Given the description of an element on the screen output the (x, y) to click on. 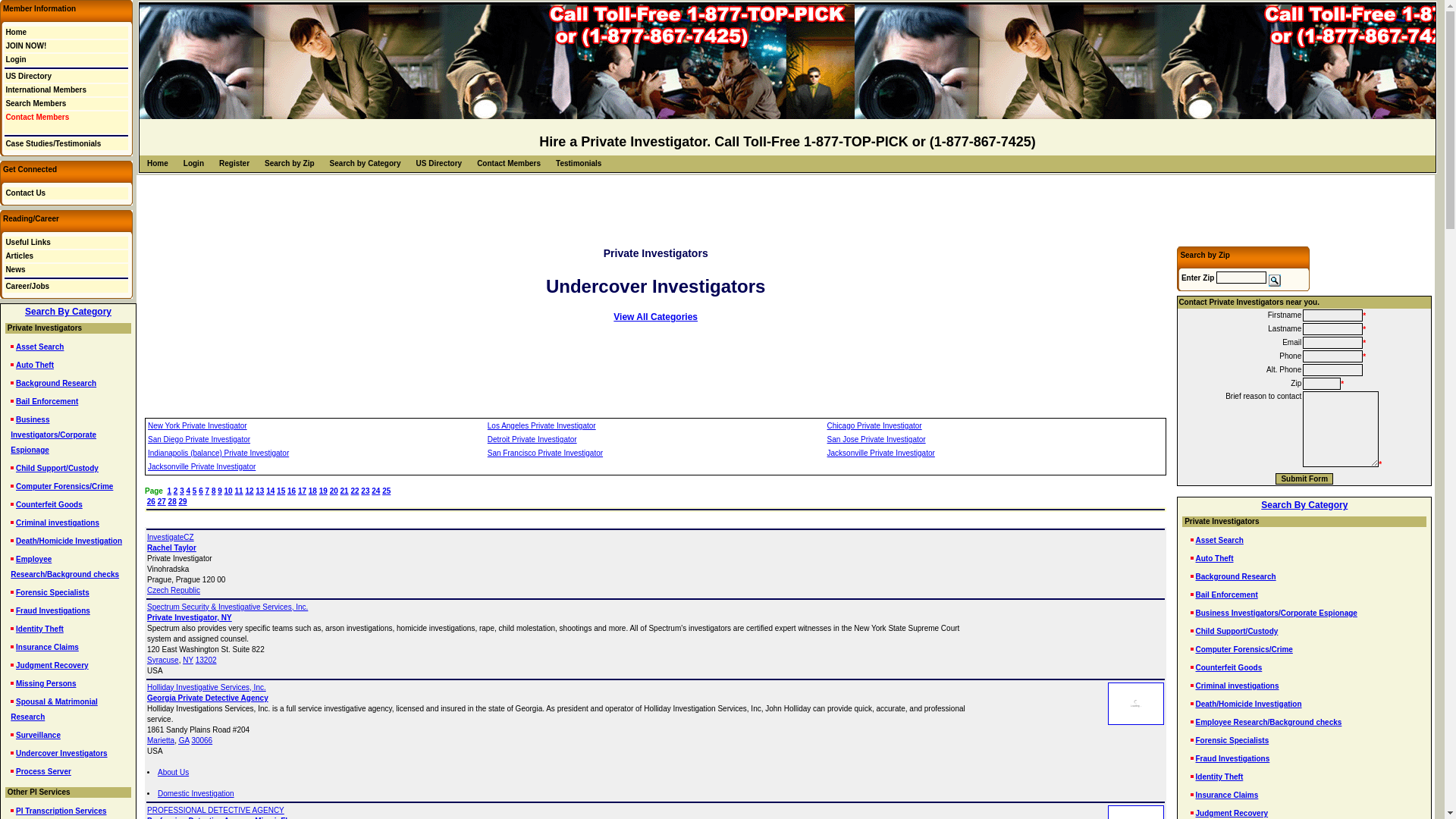
Surveillance Private Investigator (38, 735)
Forensic Specialists (52, 592)
Submit Form (1304, 478)
Login (193, 162)
Auto Theft (34, 365)
Search by Zip (289, 162)
Process Server (43, 771)
Counterfeit Goods Private Investigator (49, 504)
Insurance Claims Private Investigator (47, 646)
Fraud Investigations Private Investigator (53, 610)
News (14, 269)
Bail Enforcement (47, 401)
Insurance Claims (47, 646)
Forensic Specialists Private Investigator (52, 592)
Criminal investigations Private Investigator (57, 522)
